Given the description of an element on the screen output the (x, y) to click on. 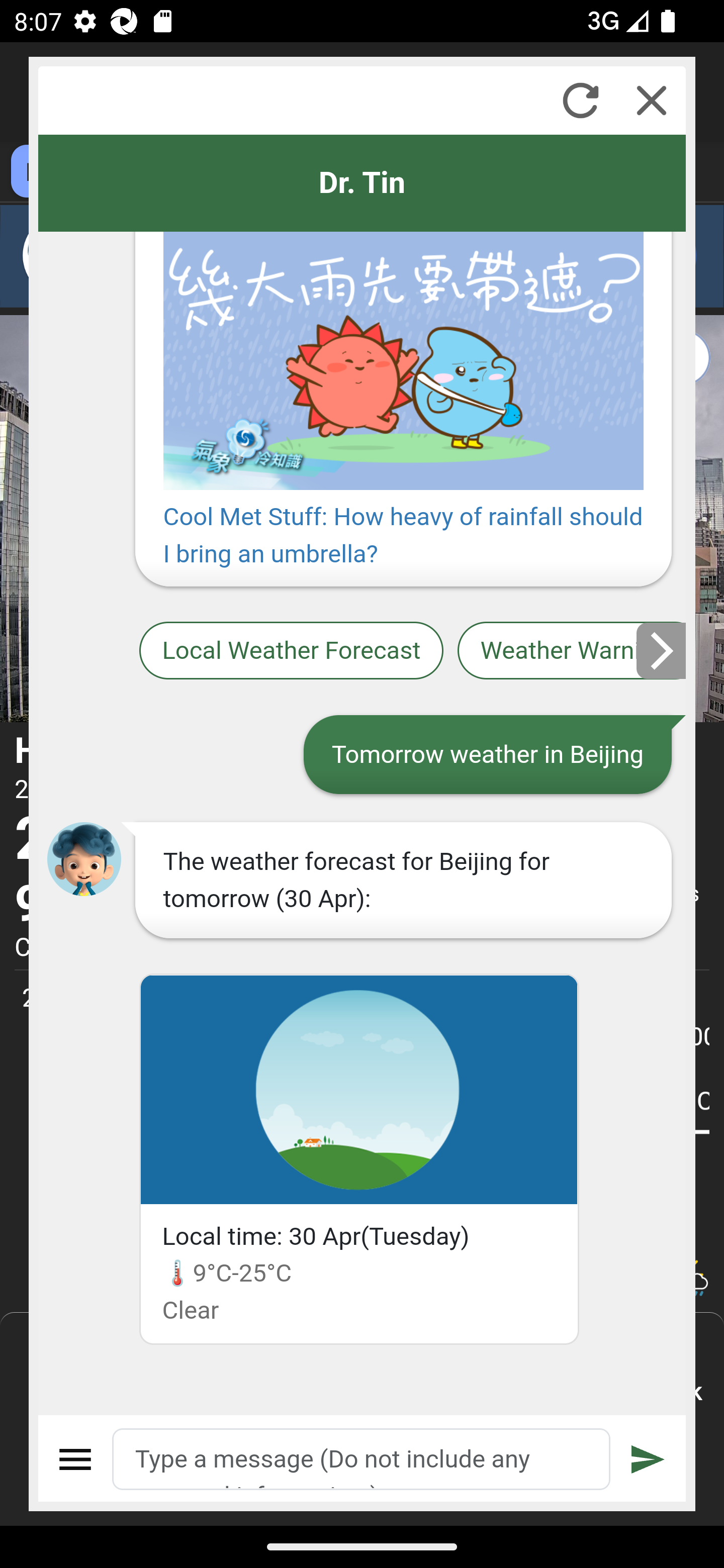
Refresh (580, 100)
Close (651, 100)
Local Weather Forecast (291, 650)
Weather Warnings (571, 650)
Next slide (661, 650)
Menu (75, 1458)
Submit (648, 1458)
